Given the description of an element on the screen output the (x, y) to click on. 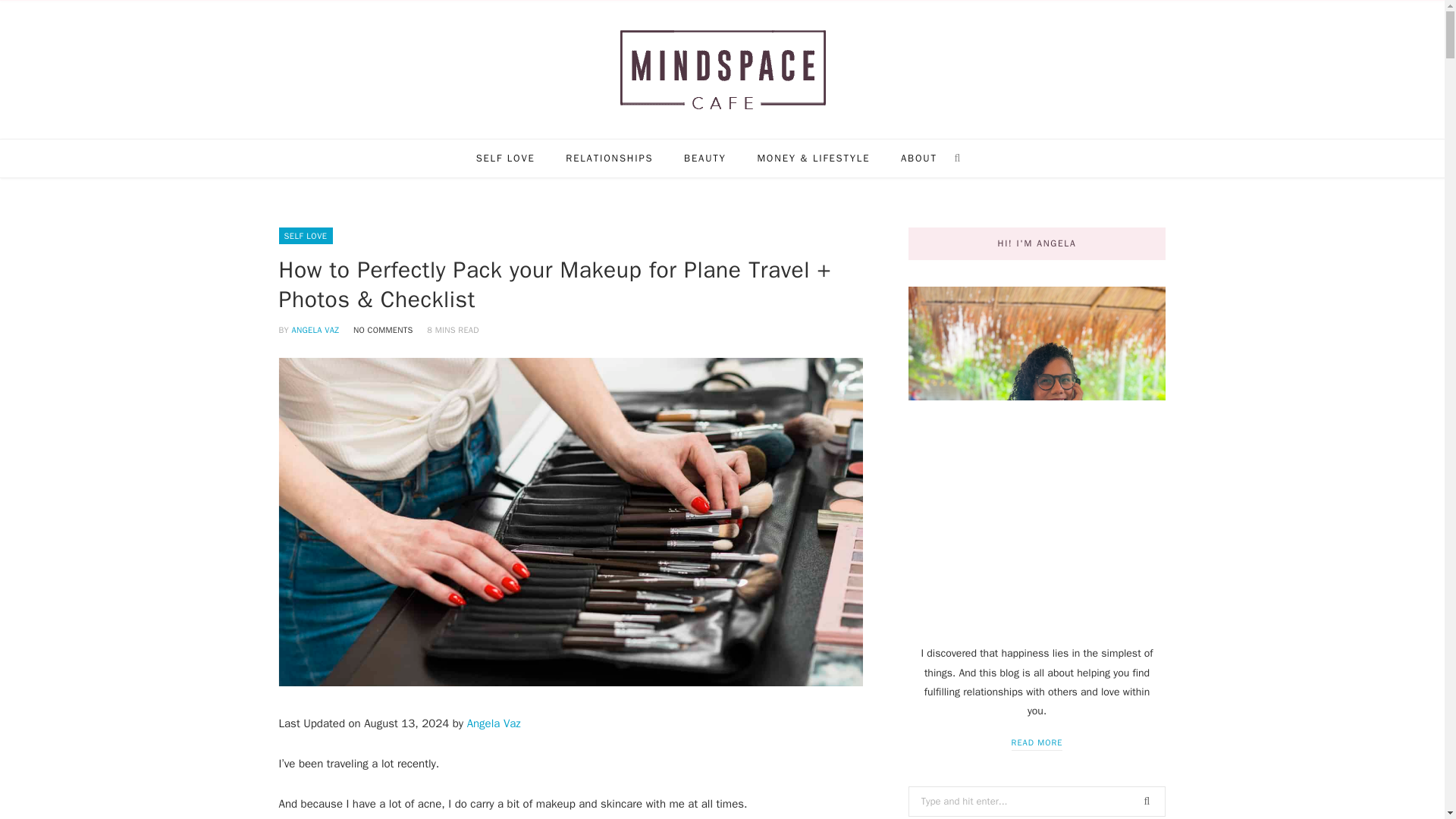
ANGELA VAZ (315, 329)
NO COMMENTS (383, 329)
Angela Vaz (494, 723)
Posts by Angela Vaz (315, 329)
RELATIONSHIPS (608, 158)
SELF LOVE (306, 235)
SELF LOVE (505, 158)
BEAUTY (704, 158)
Mind Space Cafe (721, 69)
ABOUT (918, 158)
